Given the description of an element on the screen output the (x, y) to click on. 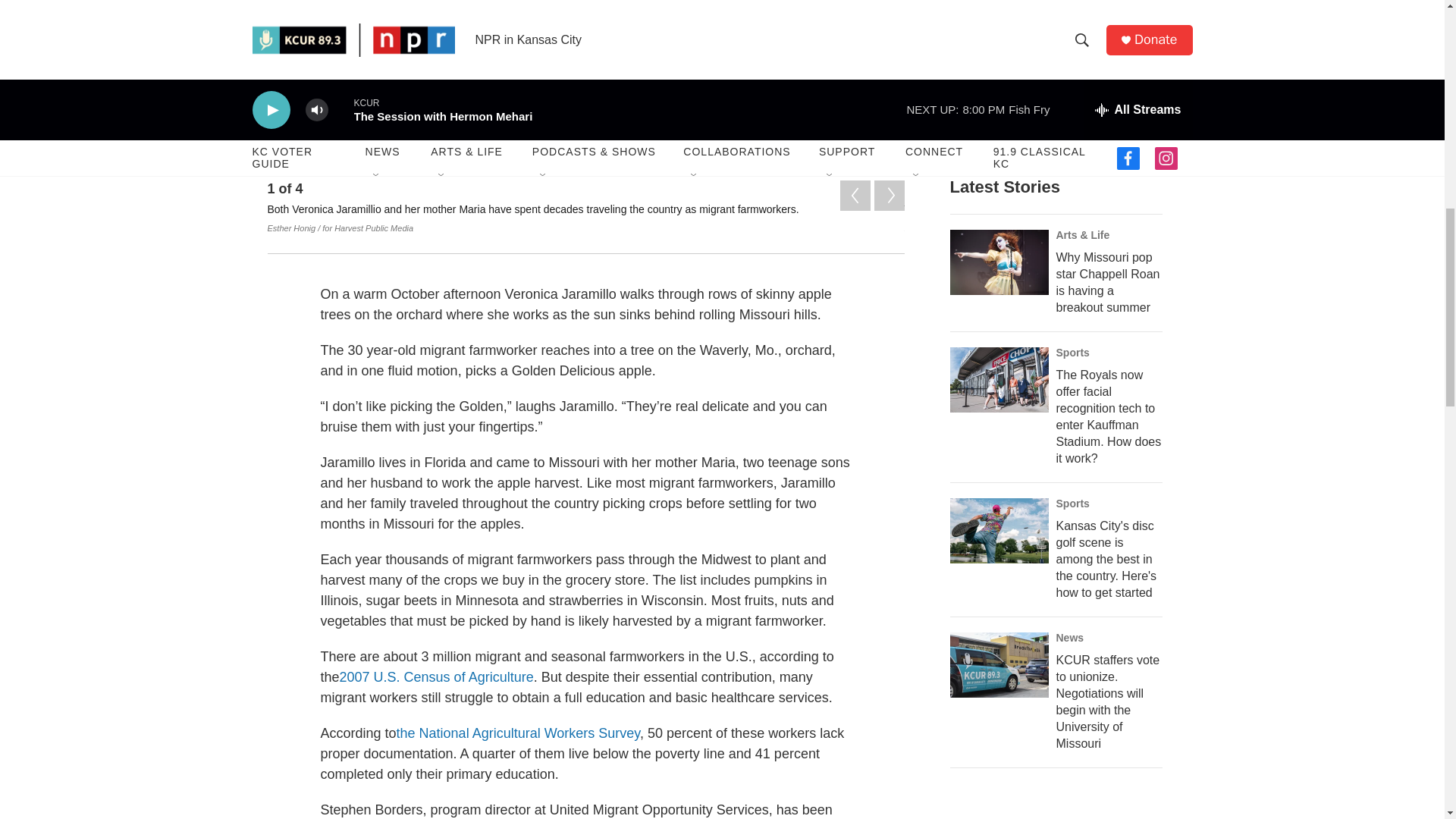
3rd party ad content (1062, 808)
